Given the description of an element on the screen output the (x, y) to click on. 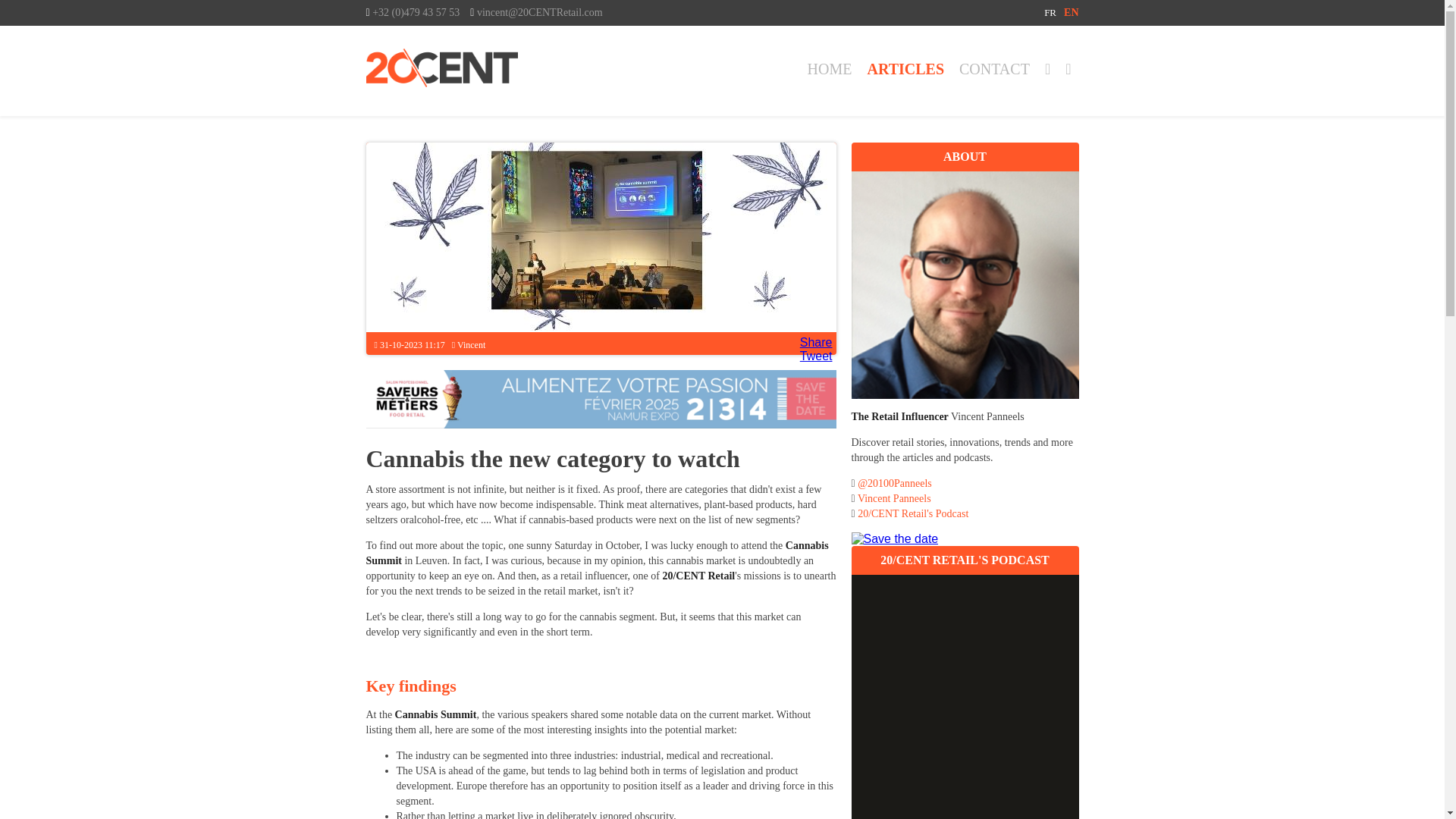
Vincent Panneels (894, 498)
CONTACT (994, 68)
Share (815, 341)
HOME (829, 68)
ARTICLES (905, 68)
Tweet (815, 355)
FR (1050, 11)
